Given the description of an element on the screen output the (x, y) to click on. 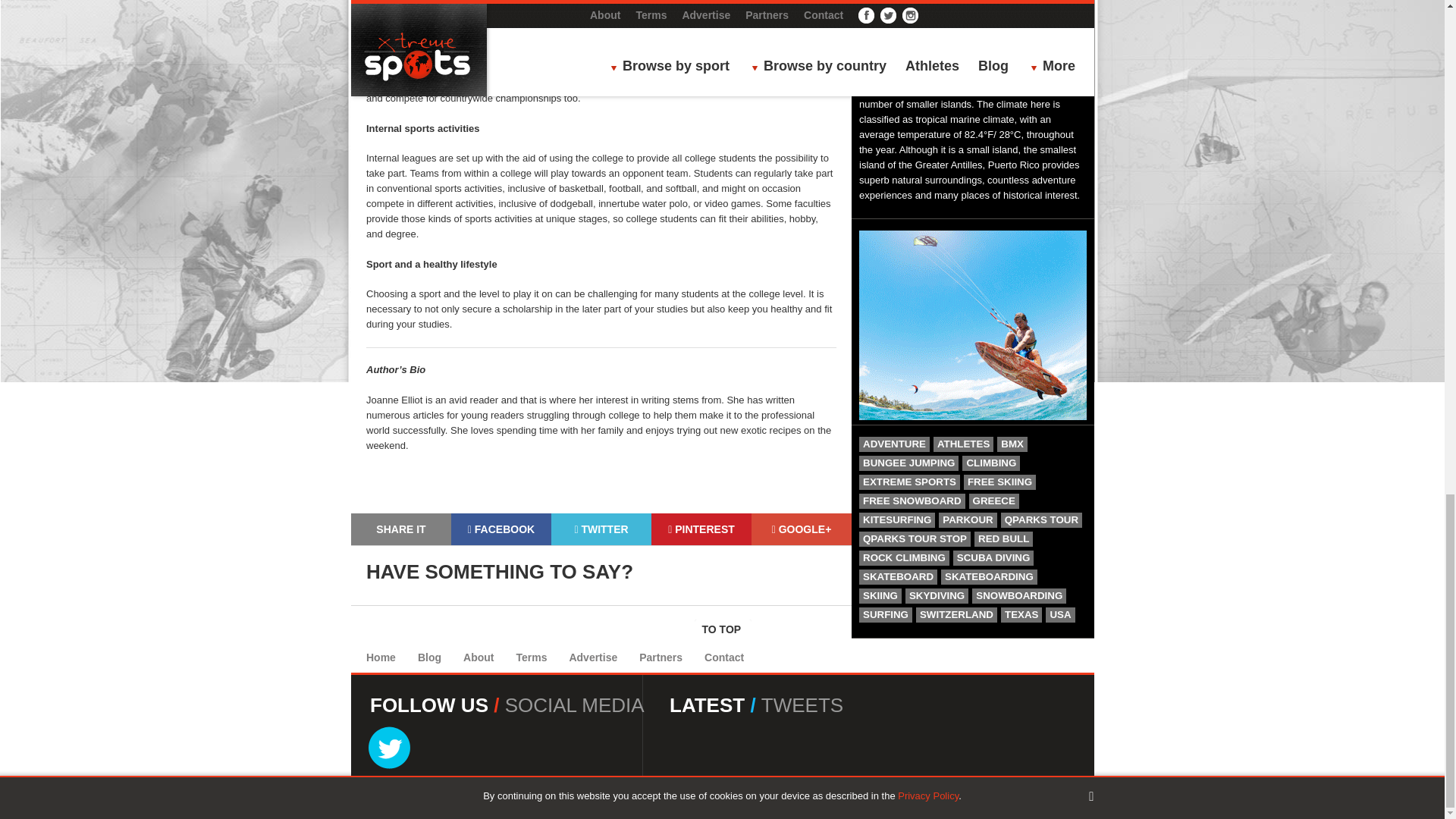
TWITTER (600, 528)
PINTEREST (700, 528)
FACEBOOK (501, 528)
View this spot (958, 13)
best paper writing websites (751, 67)
